Given the description of an element on the screen output the (x, y) to click on. 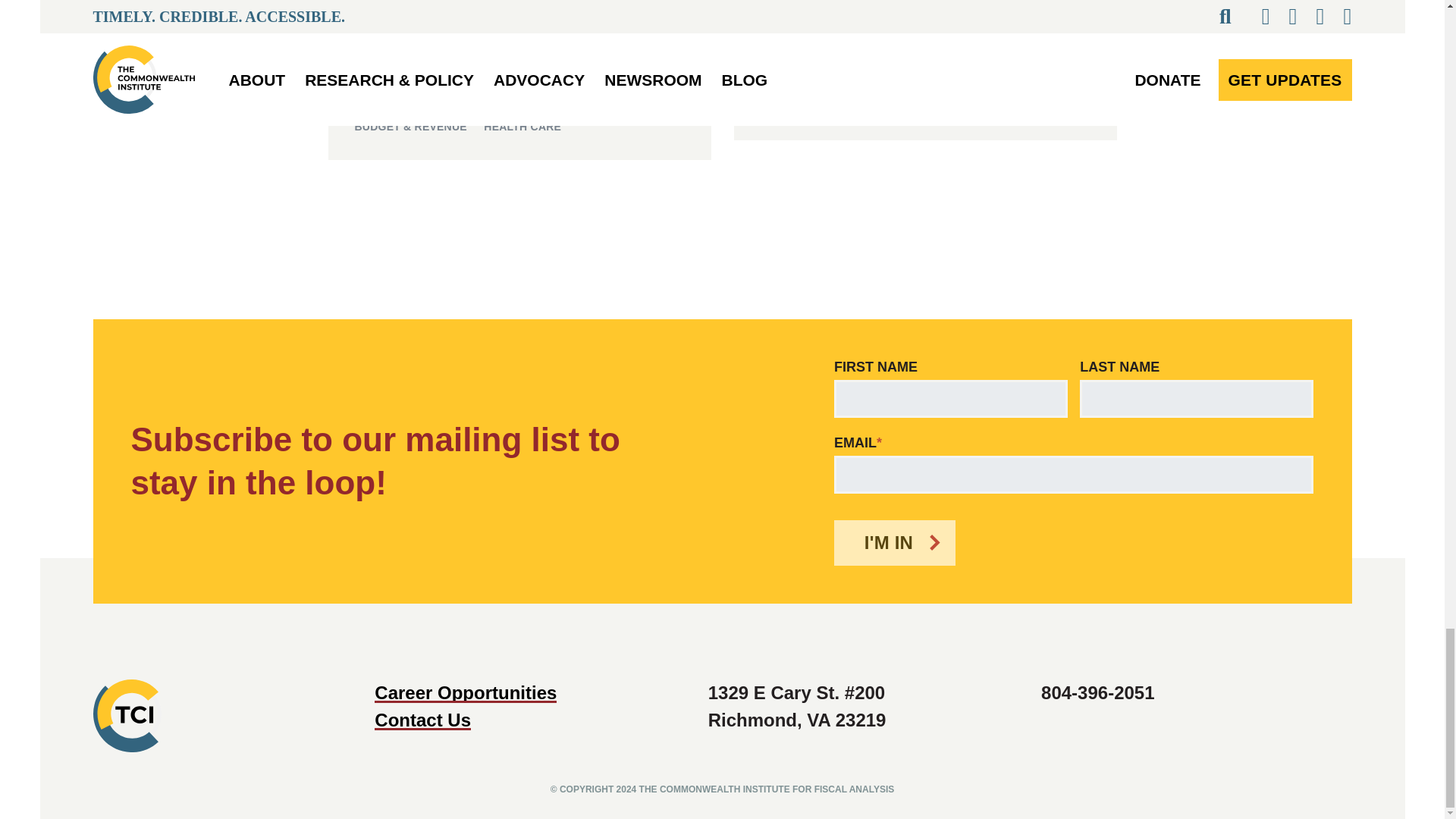
EDUCATION (792, 106)
HEALTH CARE (521, 126)
ECONOMIC OPPORTUNITY (959, 88)
I'm in (894, 542)
